Given the description of an element on the screen output the (x, y) to click on. 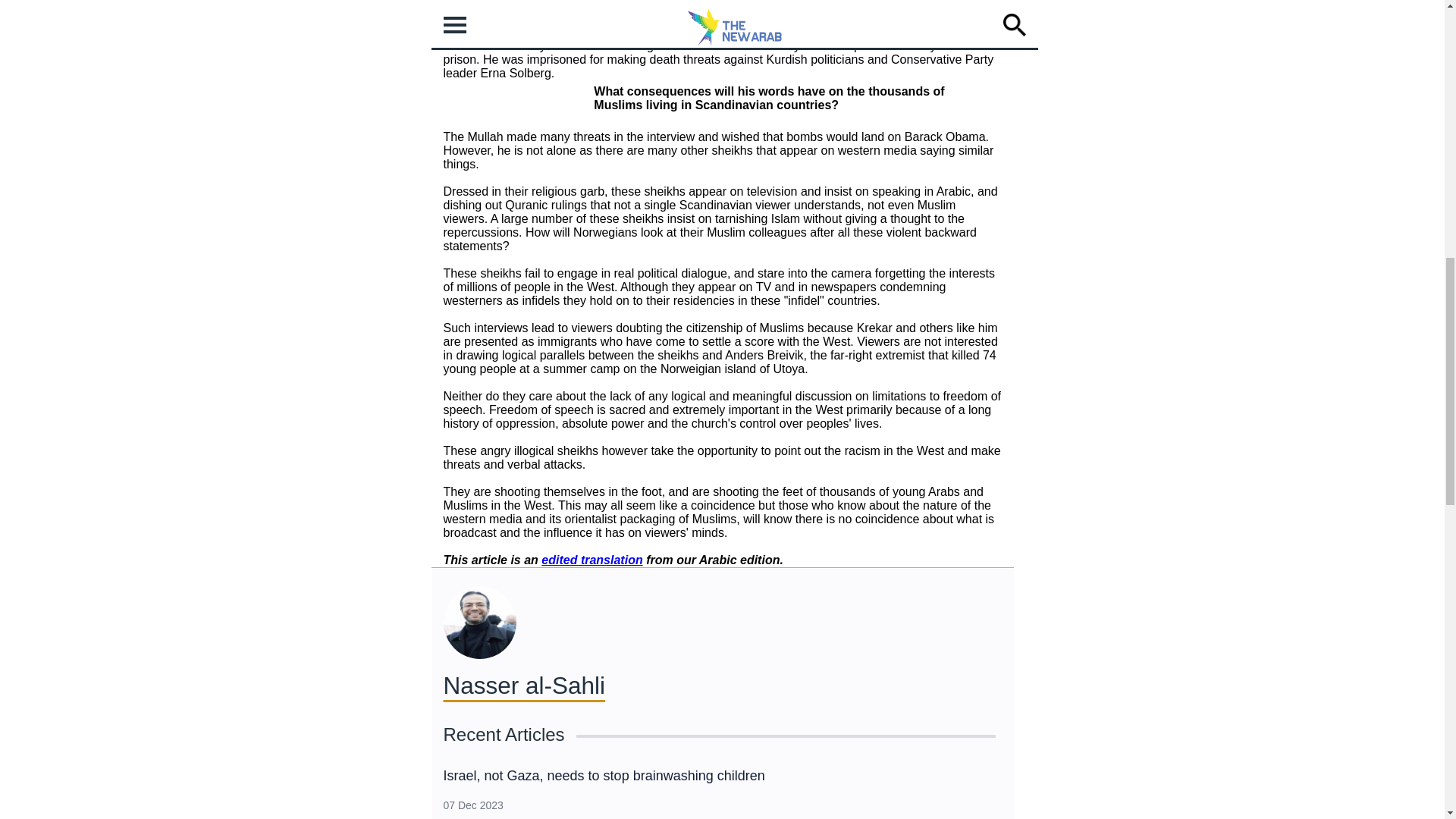
Nasser al-Sahli (523, 685)
Nasser al-Sahli (523, 685)
Israel, not Gaza, needs to stop brainwashing children (603, 775)
Israel, not Gaza, needs to stop brainwashing children (603, 775)
edited translation (591, 559)
